Given the description of an element on the screen output the (x, y) to click on. 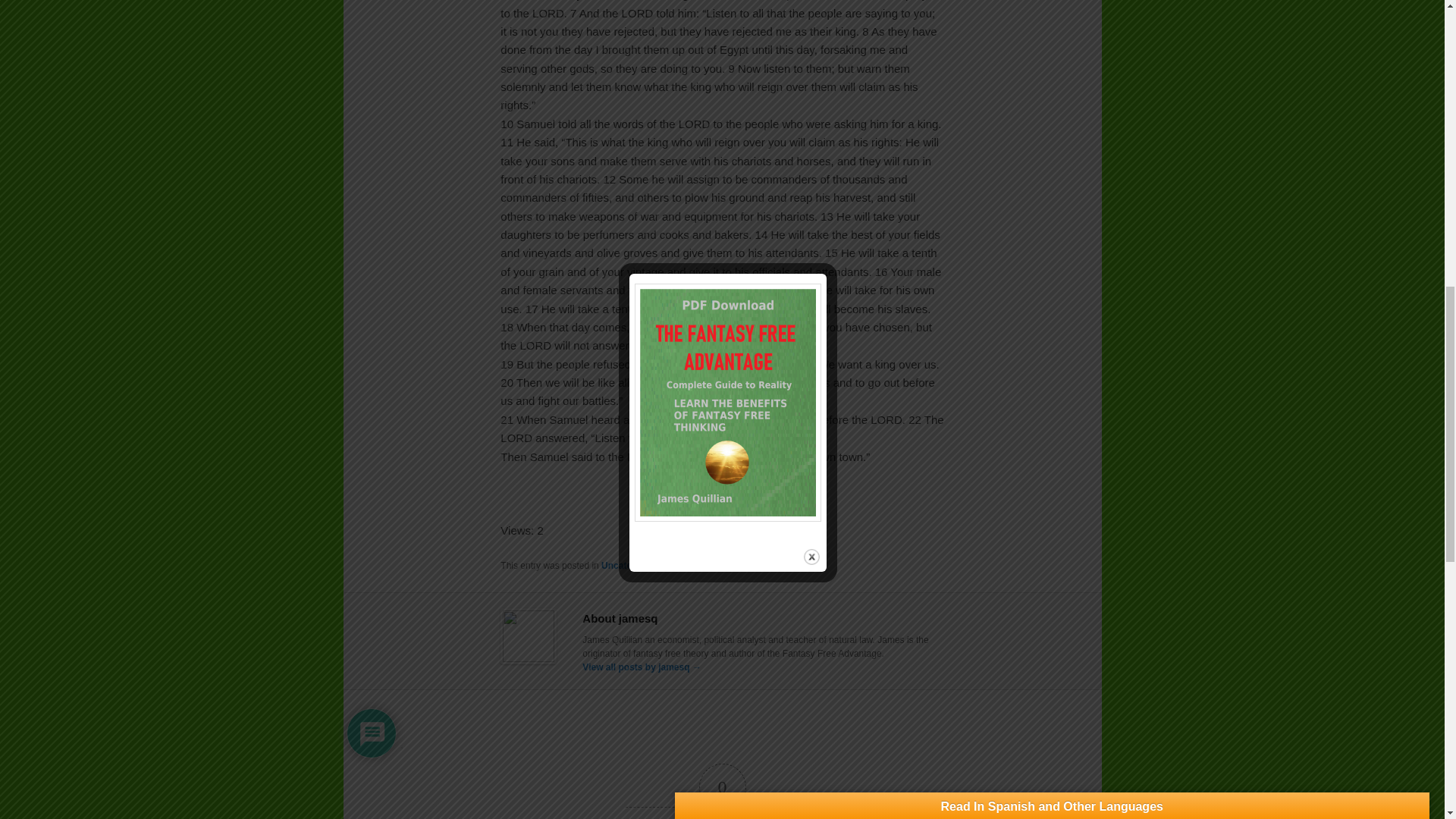
permalink (795, 565)
Permalink to How To Know What People Will Do (795, 565)
jamesq (694, 565)
Uncategorized (632, 565)
